Given the description of an element on the screen output the (x, y) to click on. 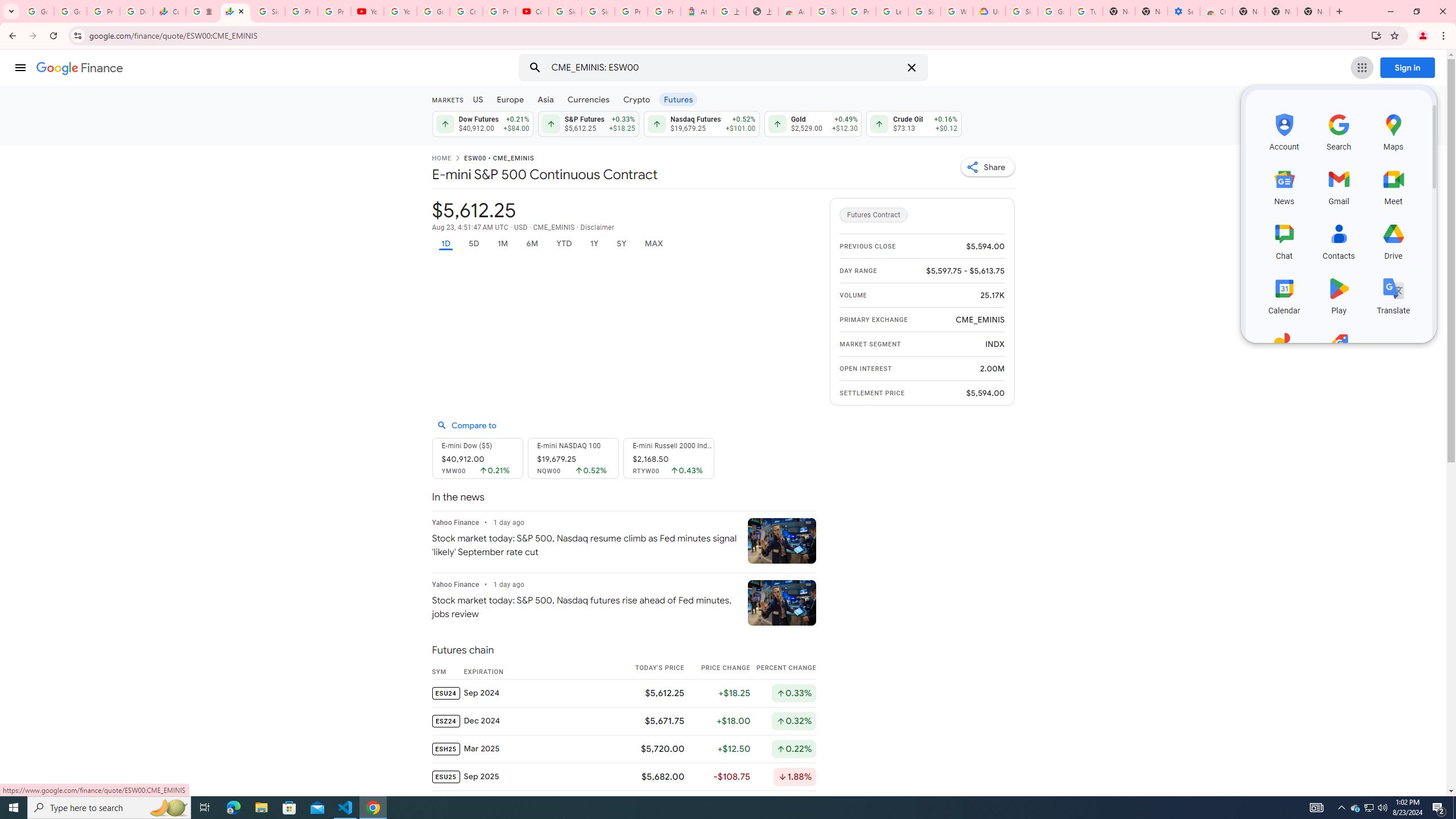
ESH25 Mar 2025 $5,720.00 +$12.50 Up by 0.22% (623, 748)
Content Creator Programs & Opportunities - YouTube Creators (532, 11)
YTD (563, 243)
ESU25 Sep 2025 $5,682.00 -$108.75 Down by 1.88% (623, 776)
6M (531, 243)
ESU24 Sep 2024 $5,612.25 +$18.25 Up by 0.33% (623, 692)
Sign in - Google Accounts (924, 11)
